Given the description of an element on the screen output the (x, y) to click on. 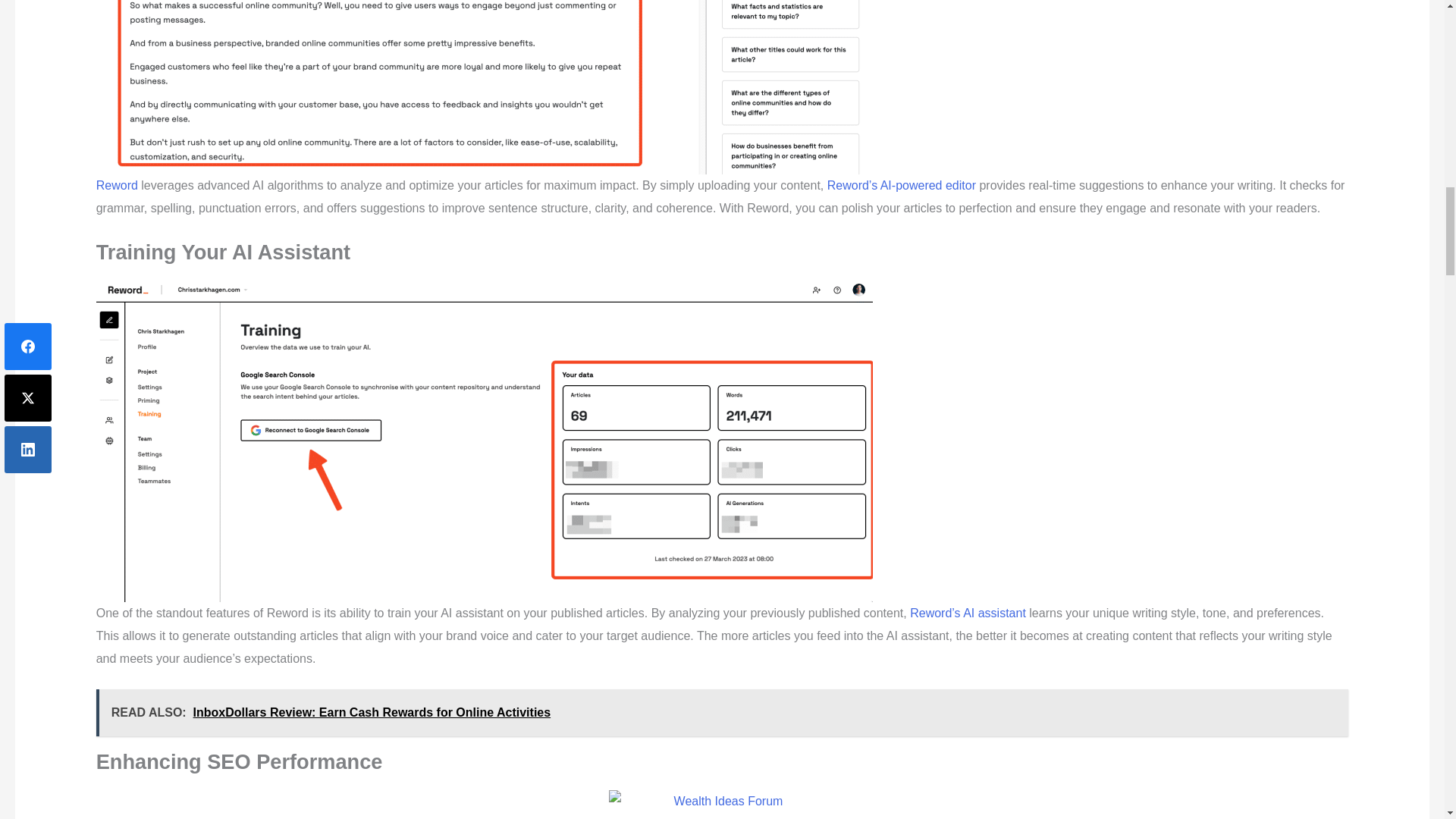
Reword (117, 185)
